Given the description of an element on the screen output the (x, y) to click on. 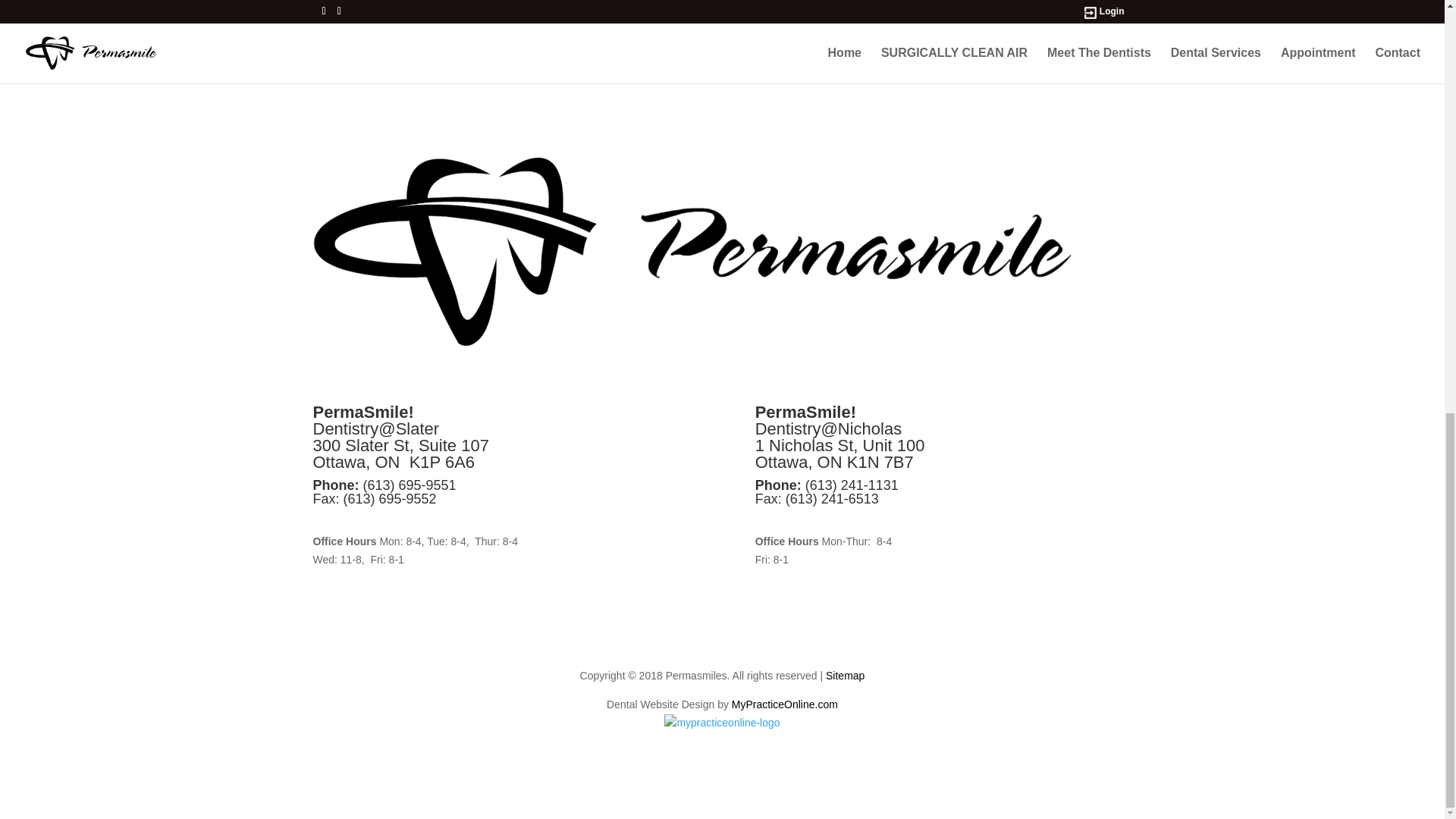
Directions (782, 518)
Sitemap (844, 675)
Directions (339, 518)
MyPracticeOnline.com (785, 704)
